Given the description of an element on the screen output the (x, y) to click on. 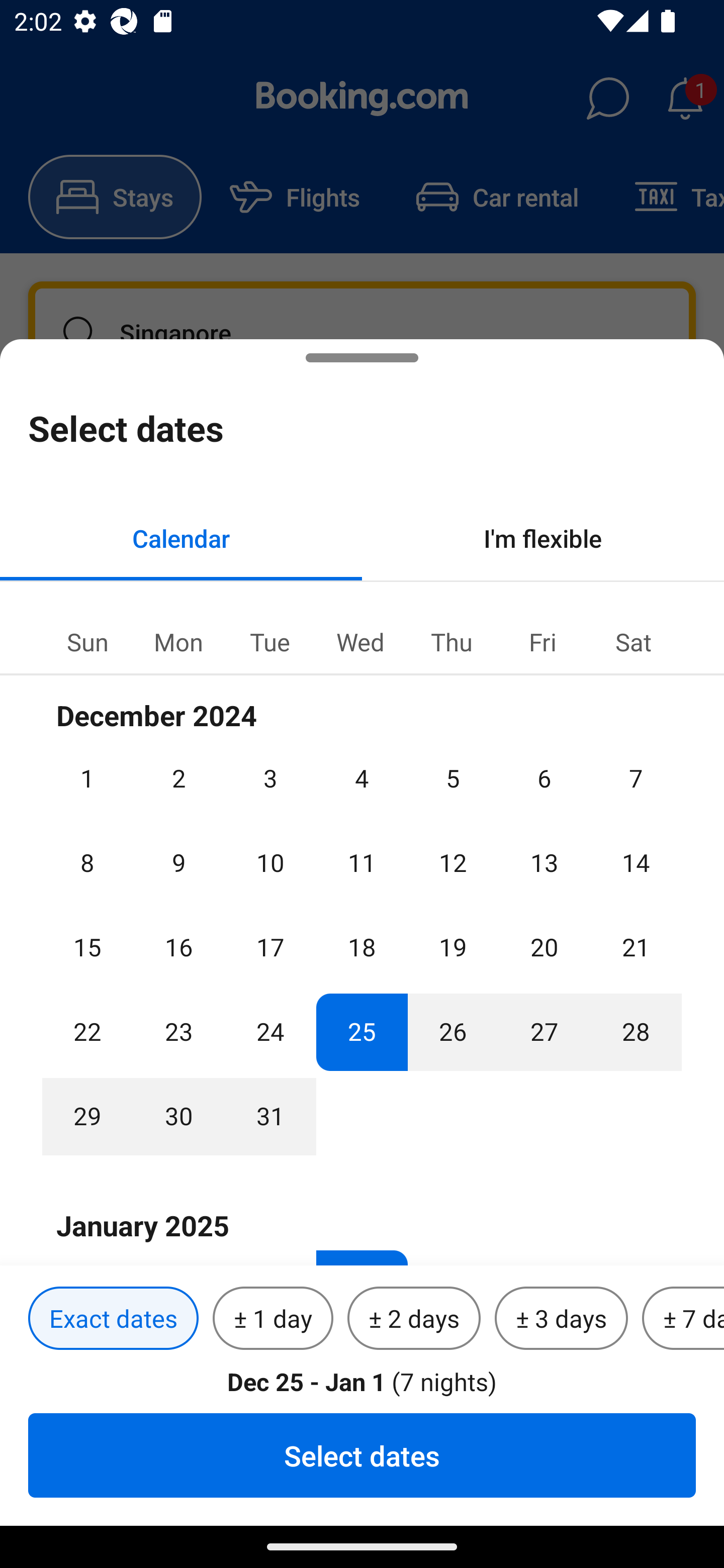
I'm flexible (543, 537)
Exact dates (113, 1318)
± 1 day (272, 1318)
± 2 days (413, 1318)
± 3 days (560, 1318)
± 7 days (683, 1318)
Select dates (361, 1454)
